Given the description of an element on the screen output the (x, y) to click on. 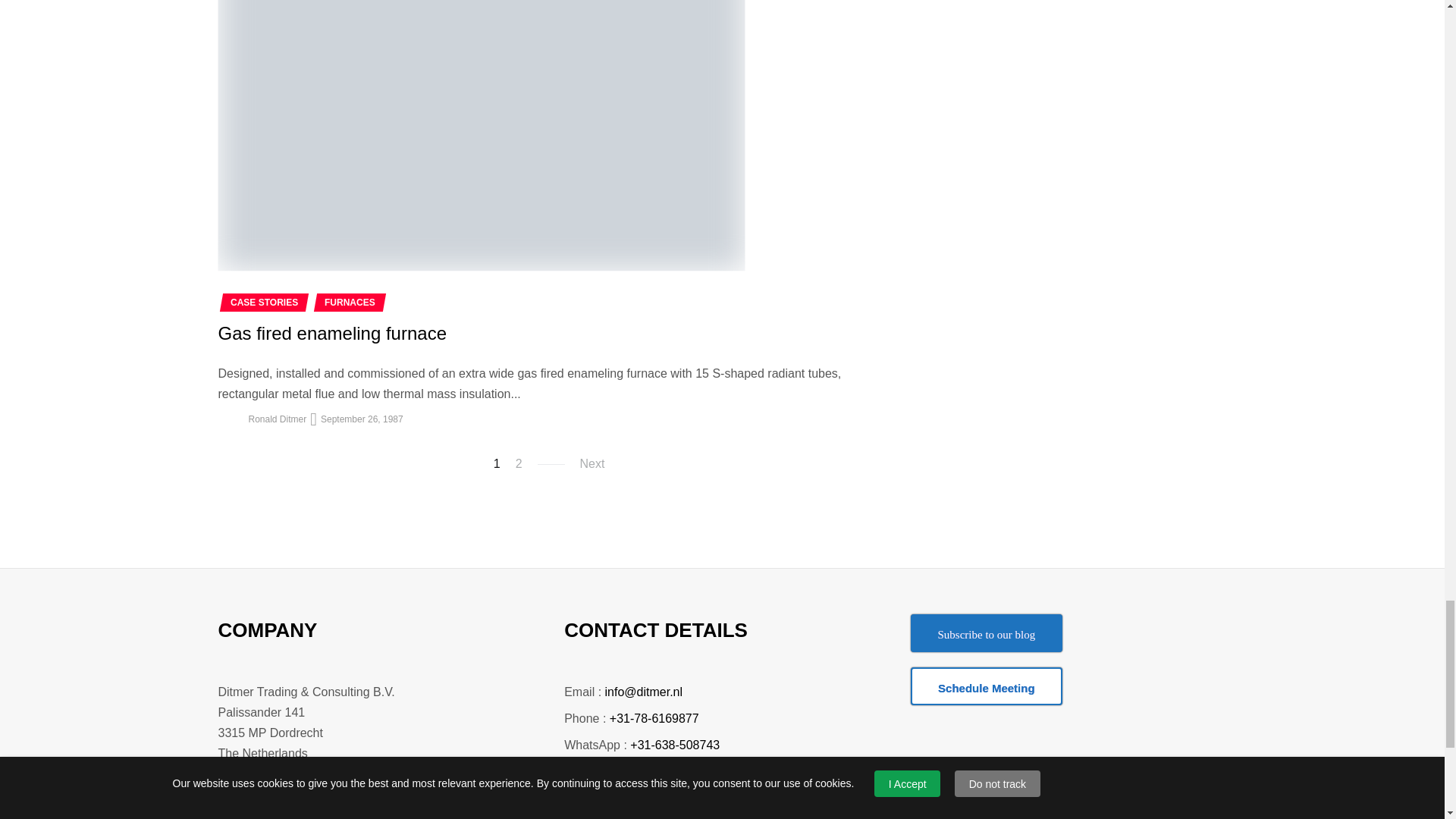
Book a video meeting via Microsoft Teams (986, 686)
